Given the description of an element on the screen output the (x, y) to click on. 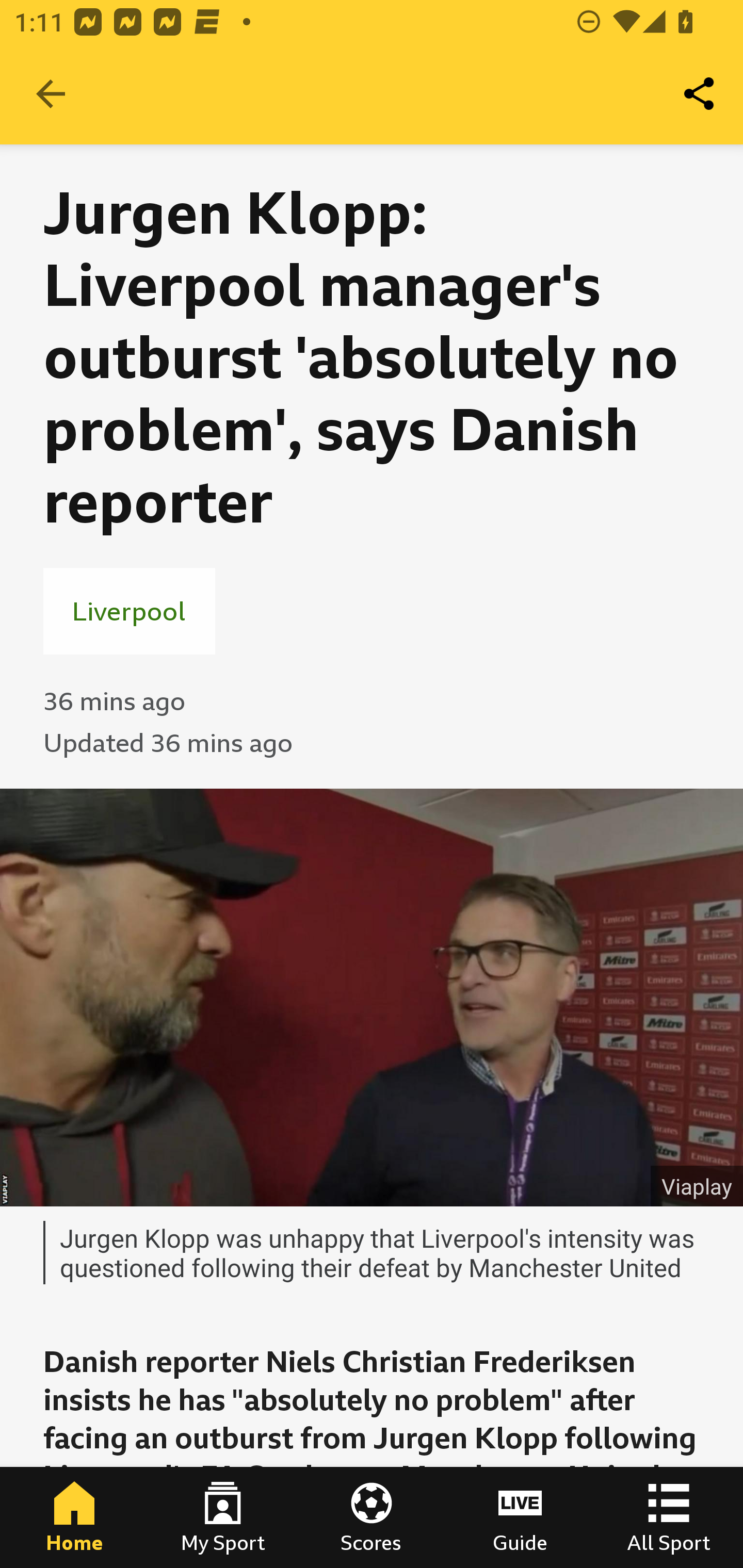
Navigate up (50, 93)
Share (699, 93)
Liverpool (129, 610)
My Sport (222, 1517)
Scores (371, 1517)
Guide (519, 1517)
All Sport (668, 1517)
